Given the description of an element on the screen output the (x, y) to click on. 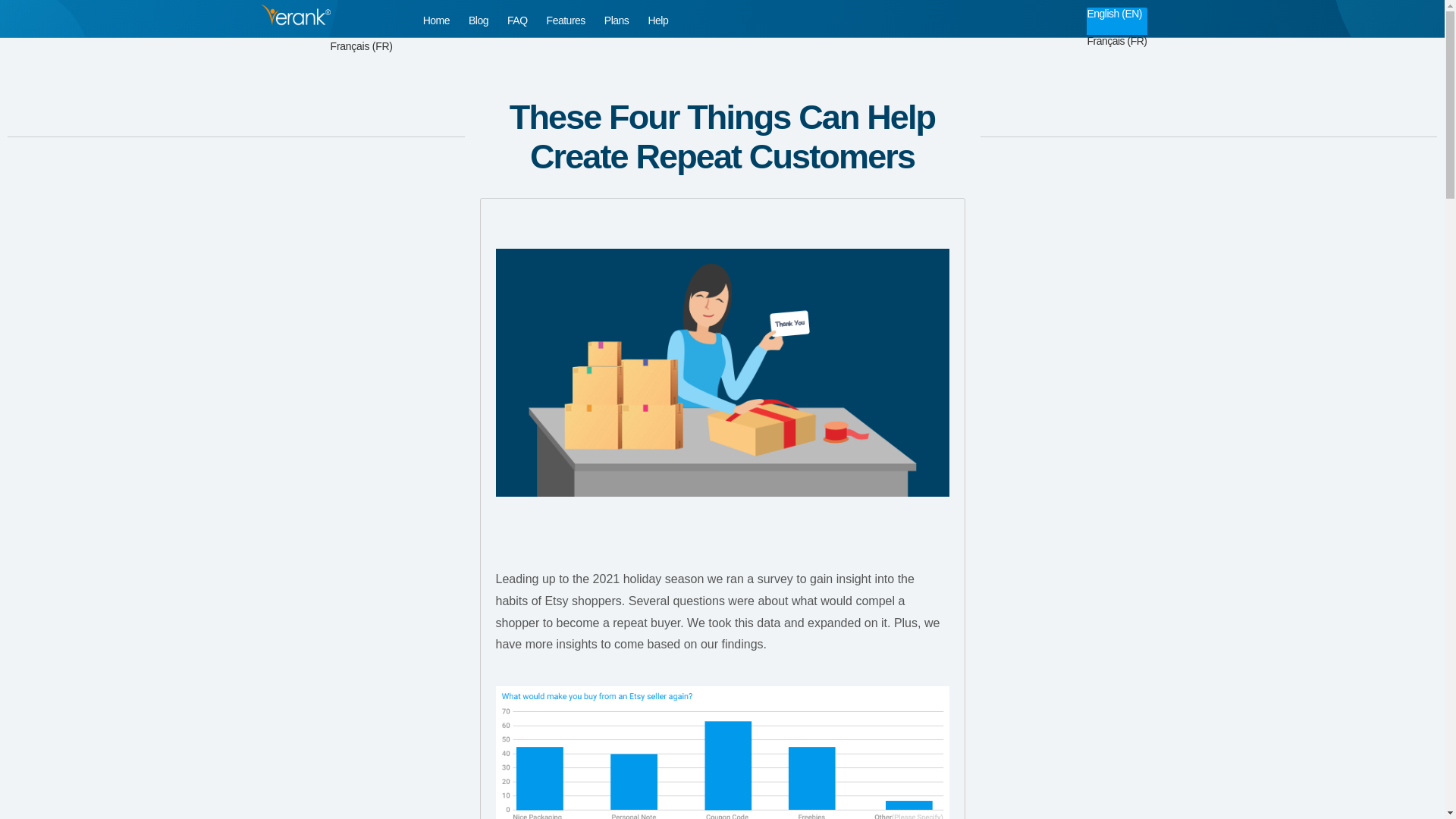
Help (657, 20)
Plans (616, 20)
EN (1101, 3)
Features (566, 20)
EN (352, 2)
FAQ (516, 20)
Home (436, 20)
Blog (477, 20)
